Given the description of an element on the screen output the (x, y) to click on. 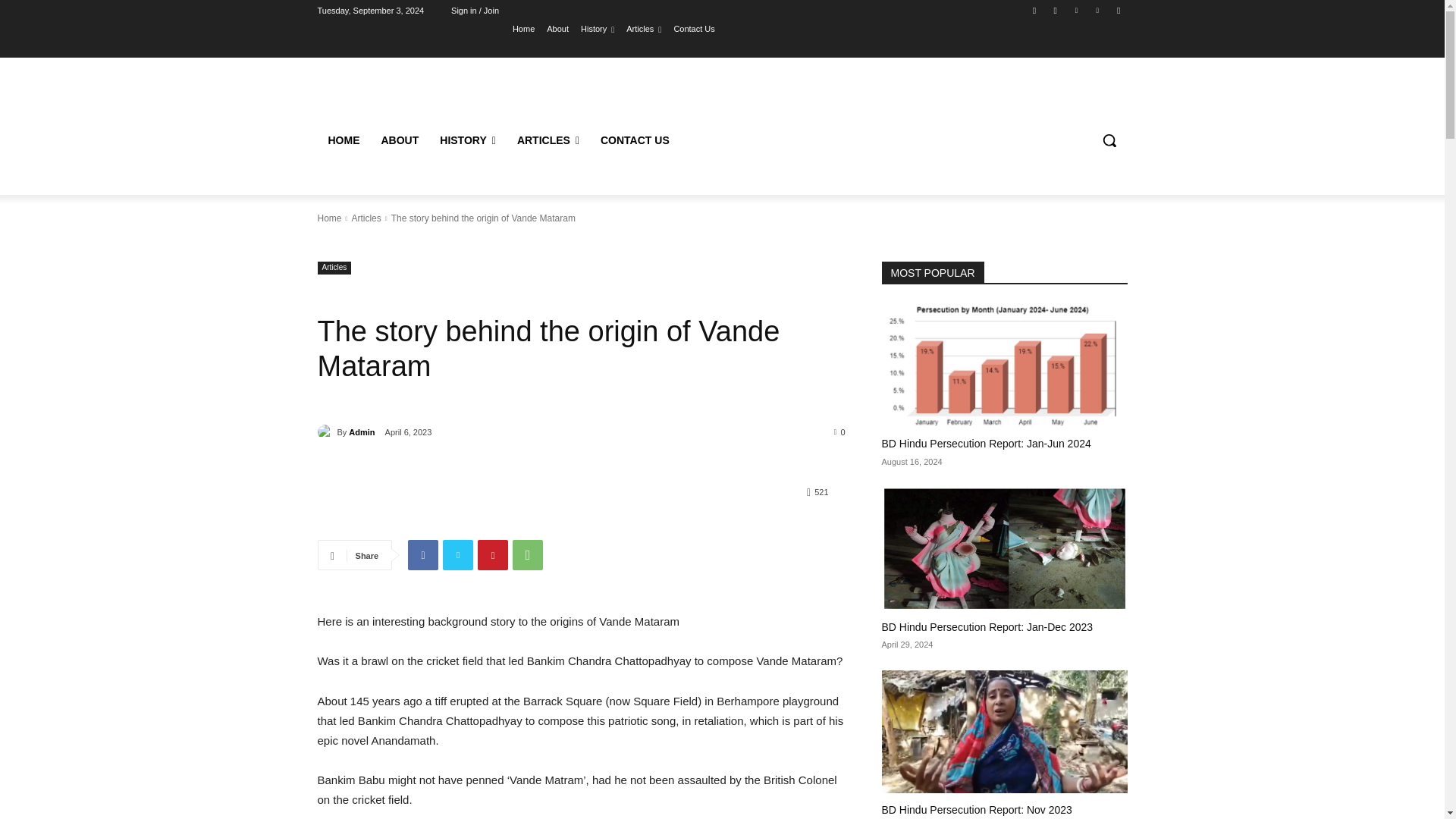
Facebook (1034, 9)
Twitter (457, 554)
Contact Us (693, 28)
About (558, 28)
Vimeo (1097, 9)
Youtube (1117, 9)
WhatsApp (527, 554)
Twitter (1075, 9)
Home (523, 28)
Pinterest (492, 554)
